Given the description of an element on the screen output the (x, y) to click on. 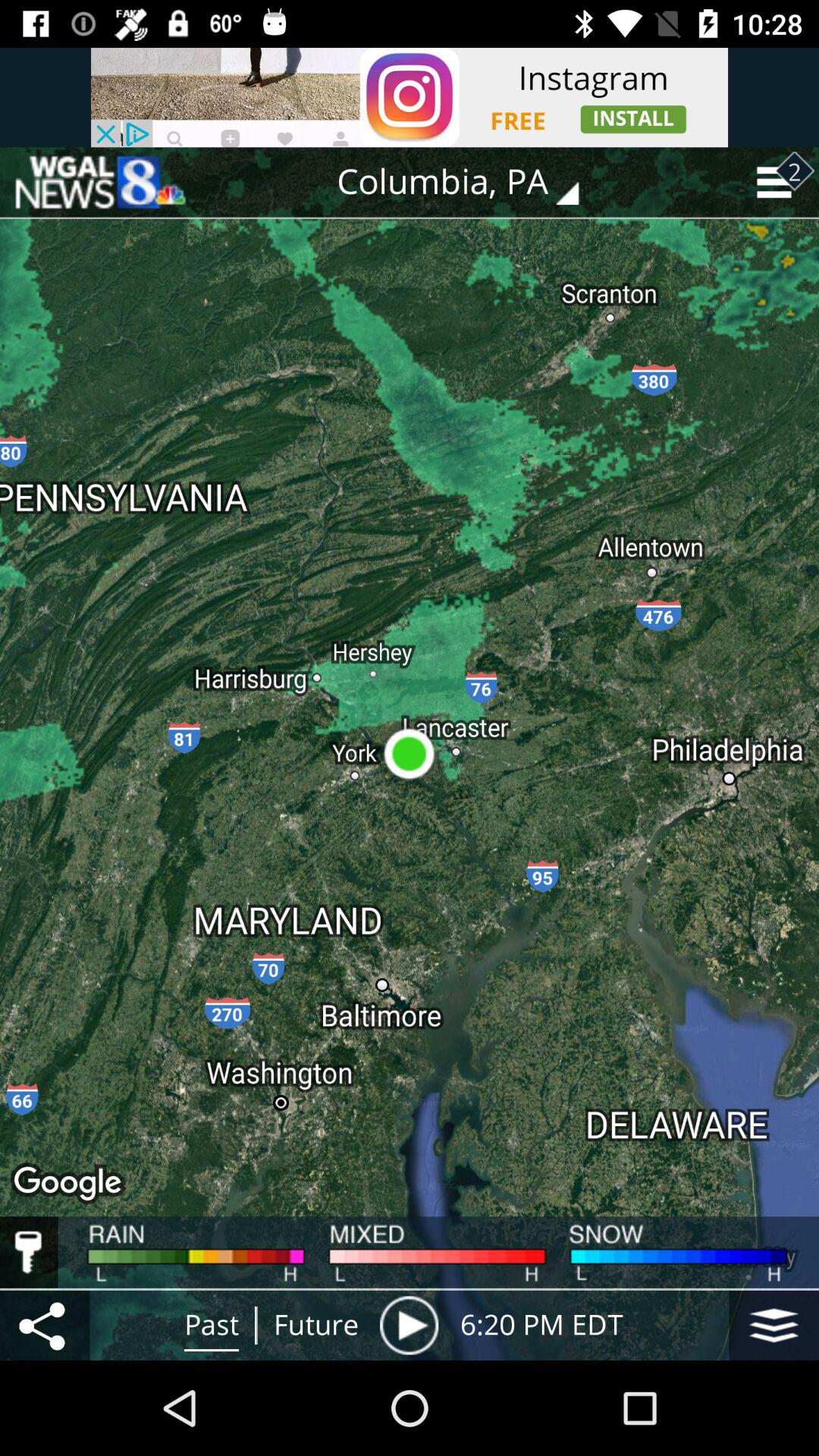
map legend (29, 1252)
